Given the description of an element on the screen output the (x, y) to click on. 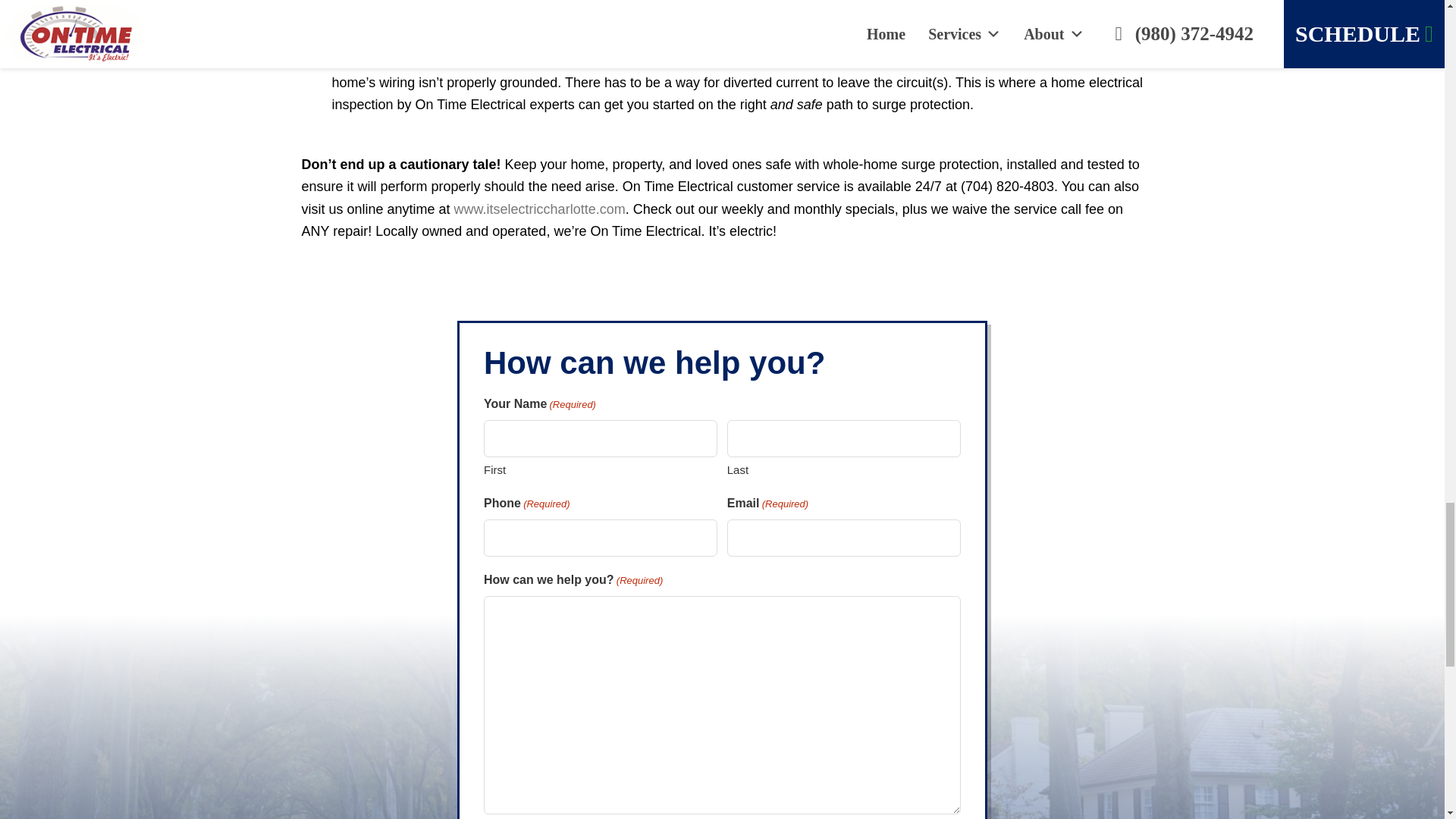
www.itselectriccharlotte.com (540, 209)
